Given the description of an element on the screen output the (x, y) to click on. 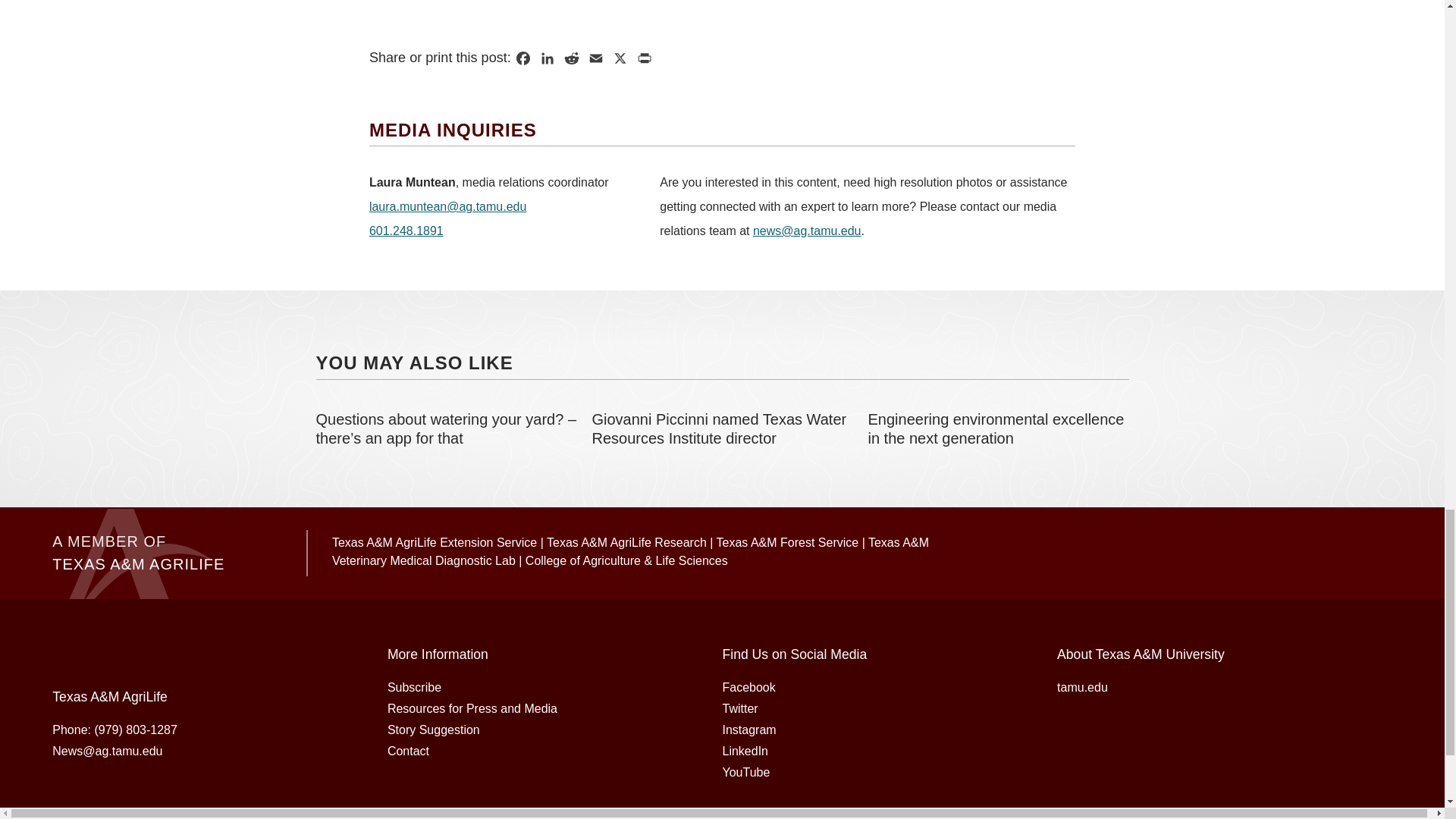
X (619, 58)
LinkedIn (547, 58)
Print (643, 58)
601.248.1891 (406, 230)
Reddit (571, 58)
Facebook (523, 58)
X (619, 58)
LinkedIn (547, 58)
Email (595, 58)
Print (643, 58)
Reddit (571, 58)
Email (595, 58)
Facebook (523, 58)
